Given the description of an element on the screen output the (x, y) to click on. 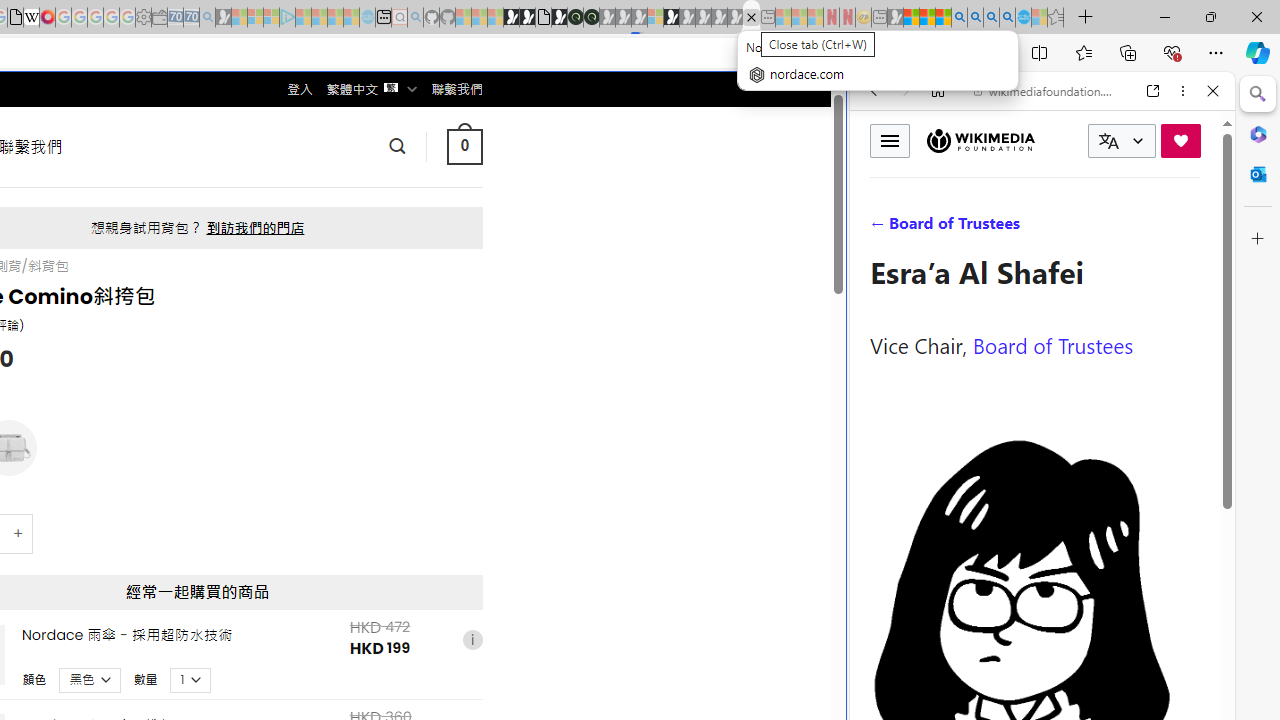
Donate now (1180, 140)
Add this page to favorites (Ctrl+D) (986, 53)
Wallet - Sleeping (159, 17)
Bing AI - Search (959, 17)
Forward (906, 91)
Target page - Wikipedia (31, 17)
Home (938, 91)
Back (874, 91)
